Given the description of an element on the screen output the (x, y) to click on. 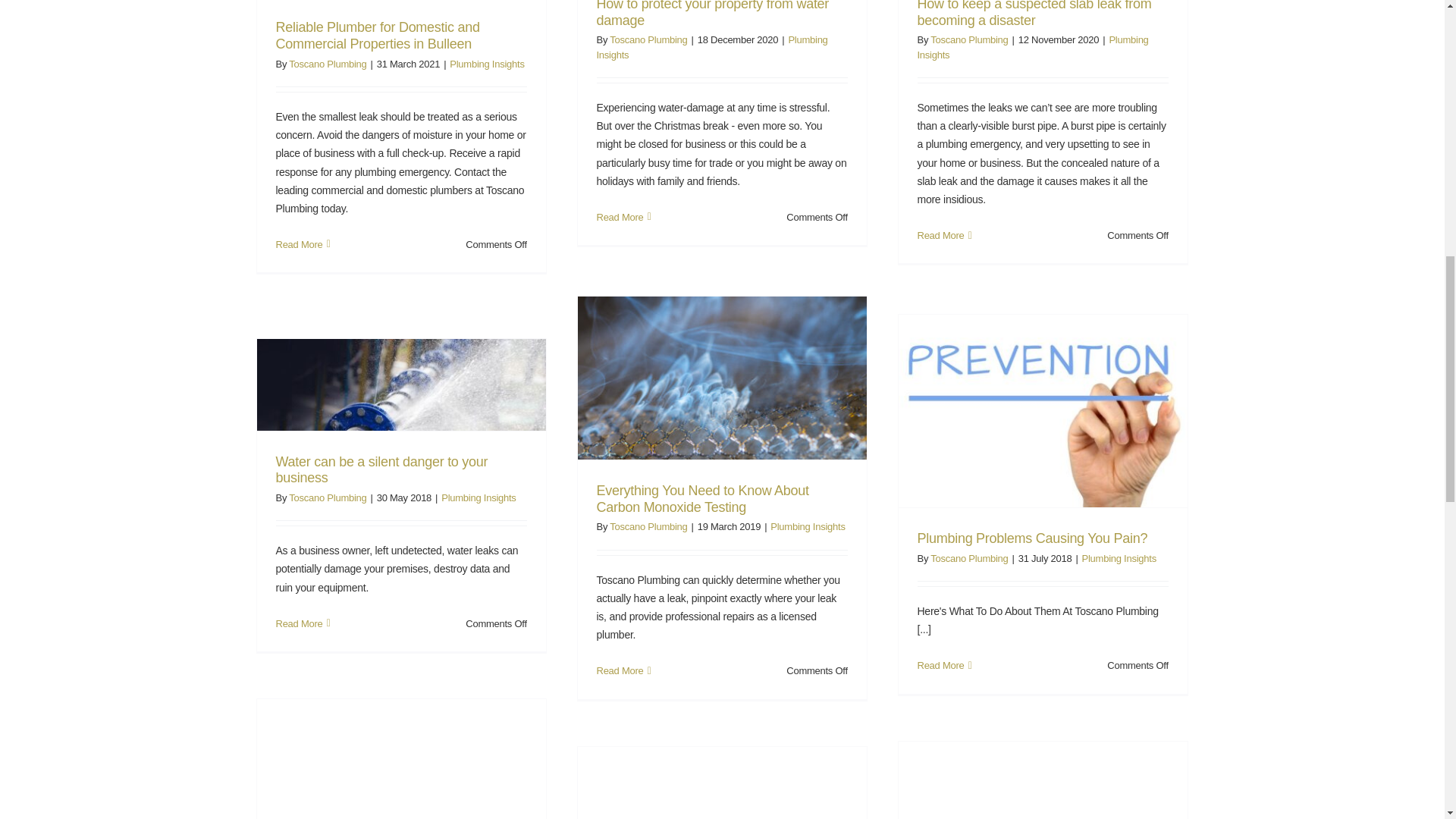
Posts by Toscano Plumbing (648, 526)
Posts by Toscano Plumbing (968, 39)
Posts by Toscano Plumbing (327, 63)
Posts by Toscano Plumbing (327, 497)
Posts by Toscano Plumbing (968, 558)
Posts by Toscano Plumbing (648, 39)
